Given the description of an element on the screen output the (x, y) to click on. 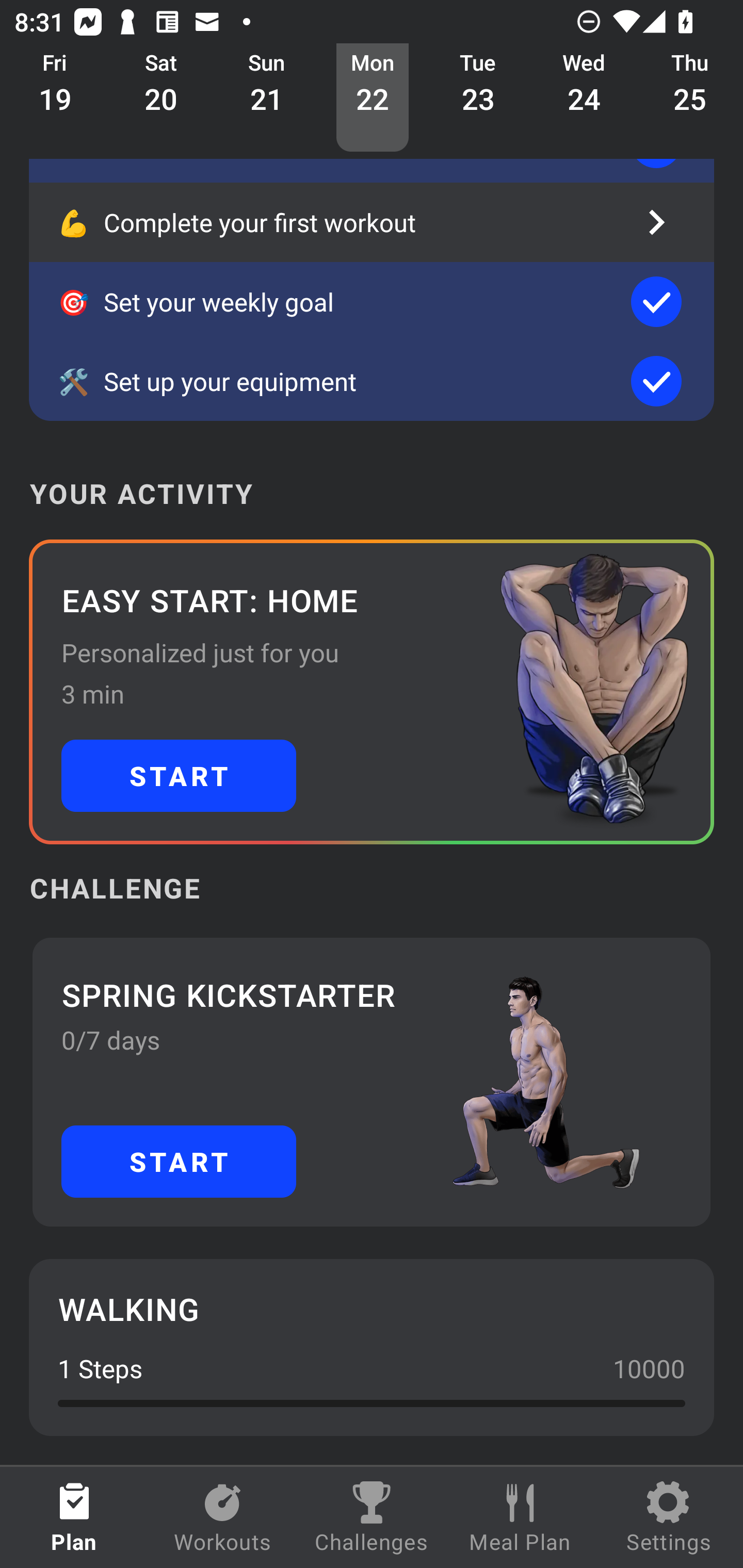
Fri 19 (55, 97)
Sat 20 (160, 97)
Sun 21 (266, 97)
Mon 22 (372, 97)
Tue 23 (478, 97)
Wed 24 (584, 97)
Thu 25 (690, 97)
💪 Complete your first workout (371, 221)
START (178, 776)
SPRING KICKSTARTER 0/7 days START (371, 1082)
START (178, 1161)
WALKING 1 Steps 10000 0.0 (371, 1347)
 Workouts  (222, 1517)
 Challenges  (371, 1517)
 Meal Plan  (519, 1517)
 Settings  (668, 1517)
